Given the description of an element on the screen output the (x, y) to click on. 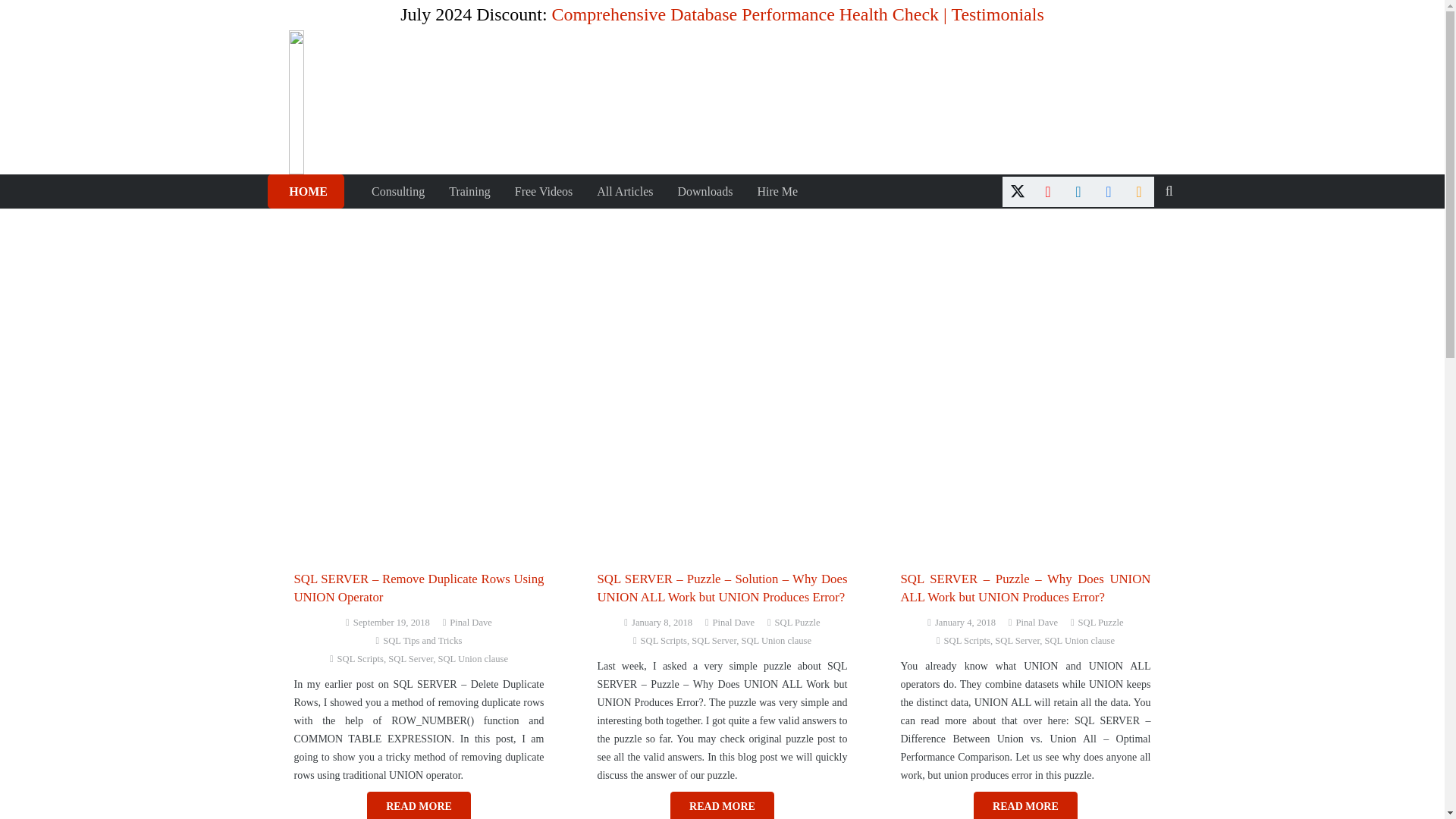
LinkedIn (1077, 191)
SQL Puzzle (797, 622)
Facebook (1108, 191)
All Articles (625, 191)
Twitter (1017, 191)
SQL Server (410, 658)
Free Videos (543, 191)
HOME (304, 191)
Consulting (397, 191)
RSS (1139, 191)
Training (469, 191)
SQL Scripts (360, 658)
SQL Union clause (473, 658)
Testimonials (996, 14)
Comprehensive Database Performance Health Check (745, 14)
